Given the description of an element on the screen output the (x, y) to click on. 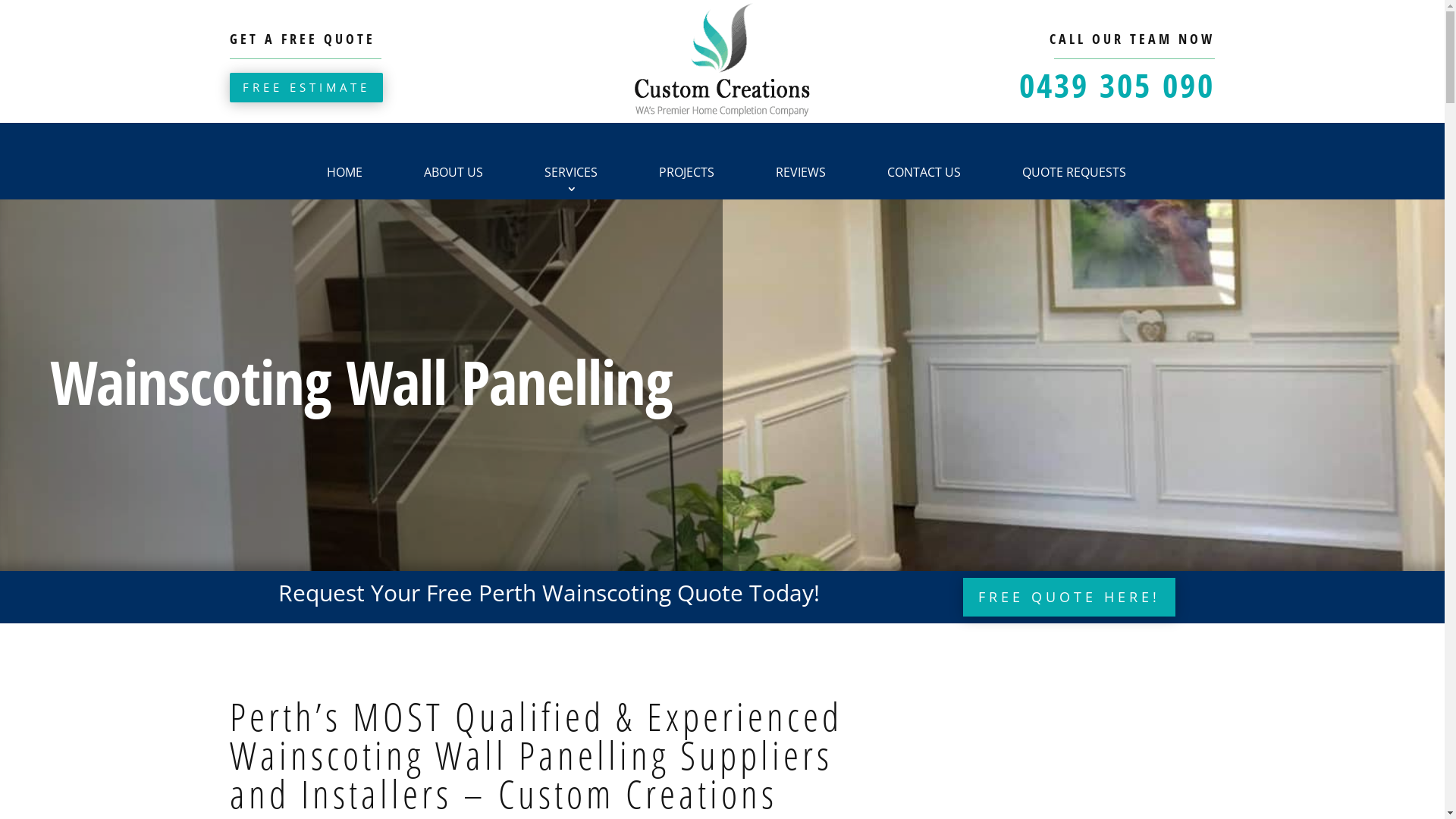
QUOTE REQUESTS Element type: text (1073, 173)
HOME Element type: text (344, 173)
REVIEWS Element type: text (800, 173)
FREE QUOTE HERE! Element type: text (1069, 596)
SERVICES Element type: text (570, 173)
CONTACT US Element type: text (923, 173)
ABOUT US Element type: text (453, 173)
FREE ESTIMATE Element type: text (305, 87)
PROJECTS Element type: text (686, 173)
